Given the description of an element on the screen output the (x, y) to click on. 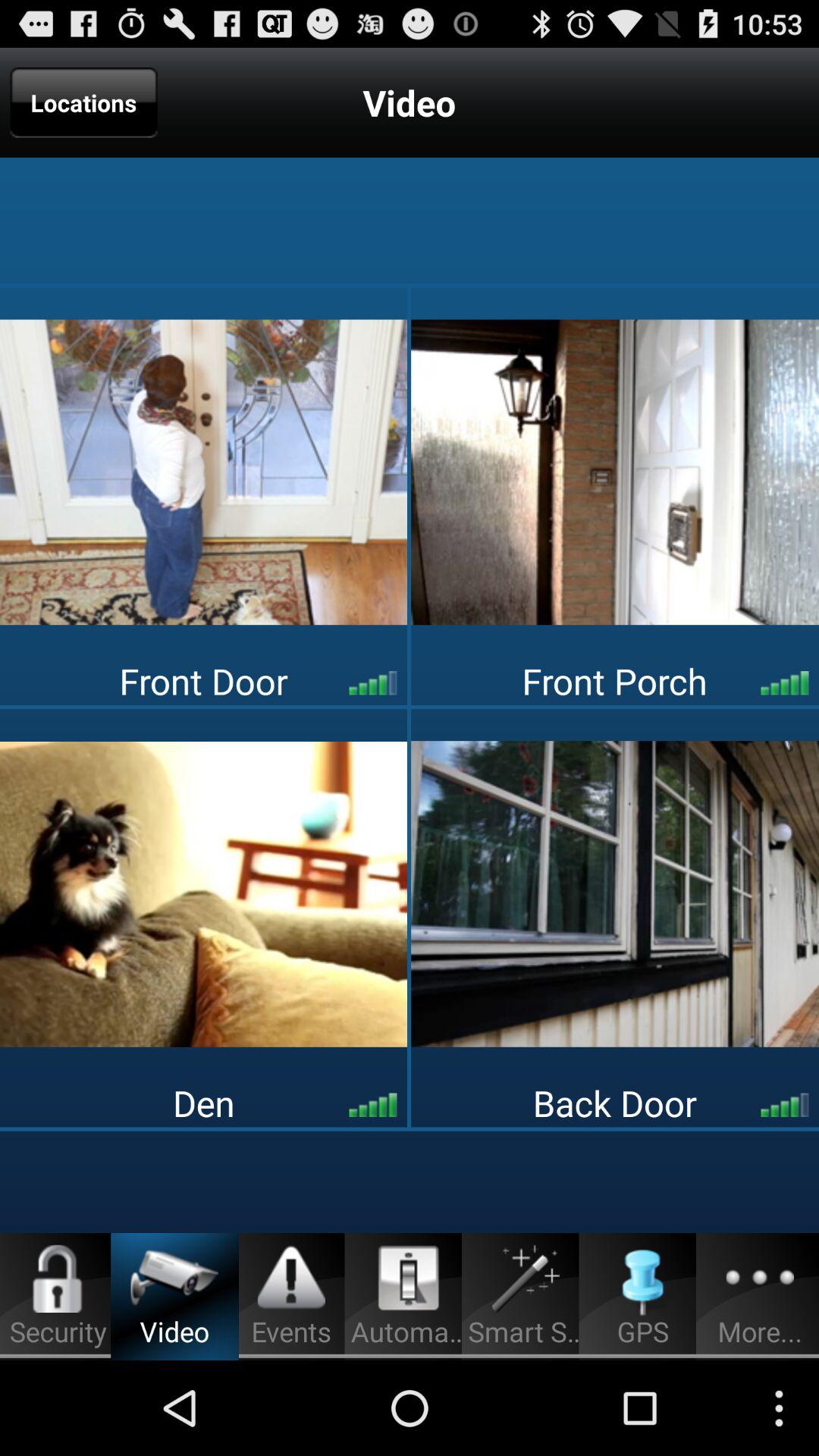
open video option (615, 471)
